Given the description of an element on the screen output the (x, y) to click on. 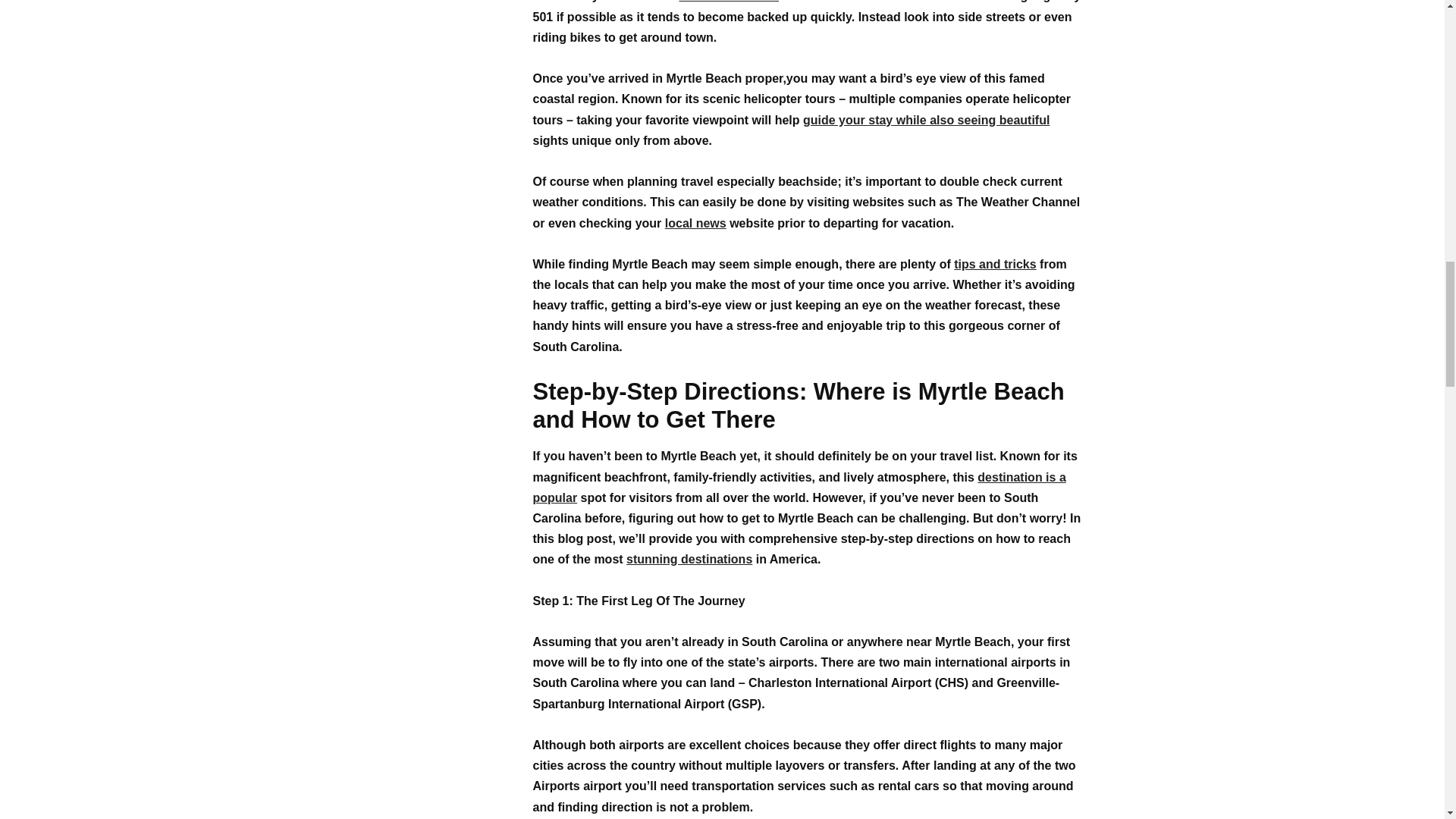
local news (695, 223)
guide your stay while also seeing beautiful (926, 119)
summer vacation (728, 1)
destination is a popular (798, 487)
tips and tricks (994, 264)
